Given the description of an element on the screen output the (x, y) to click on. 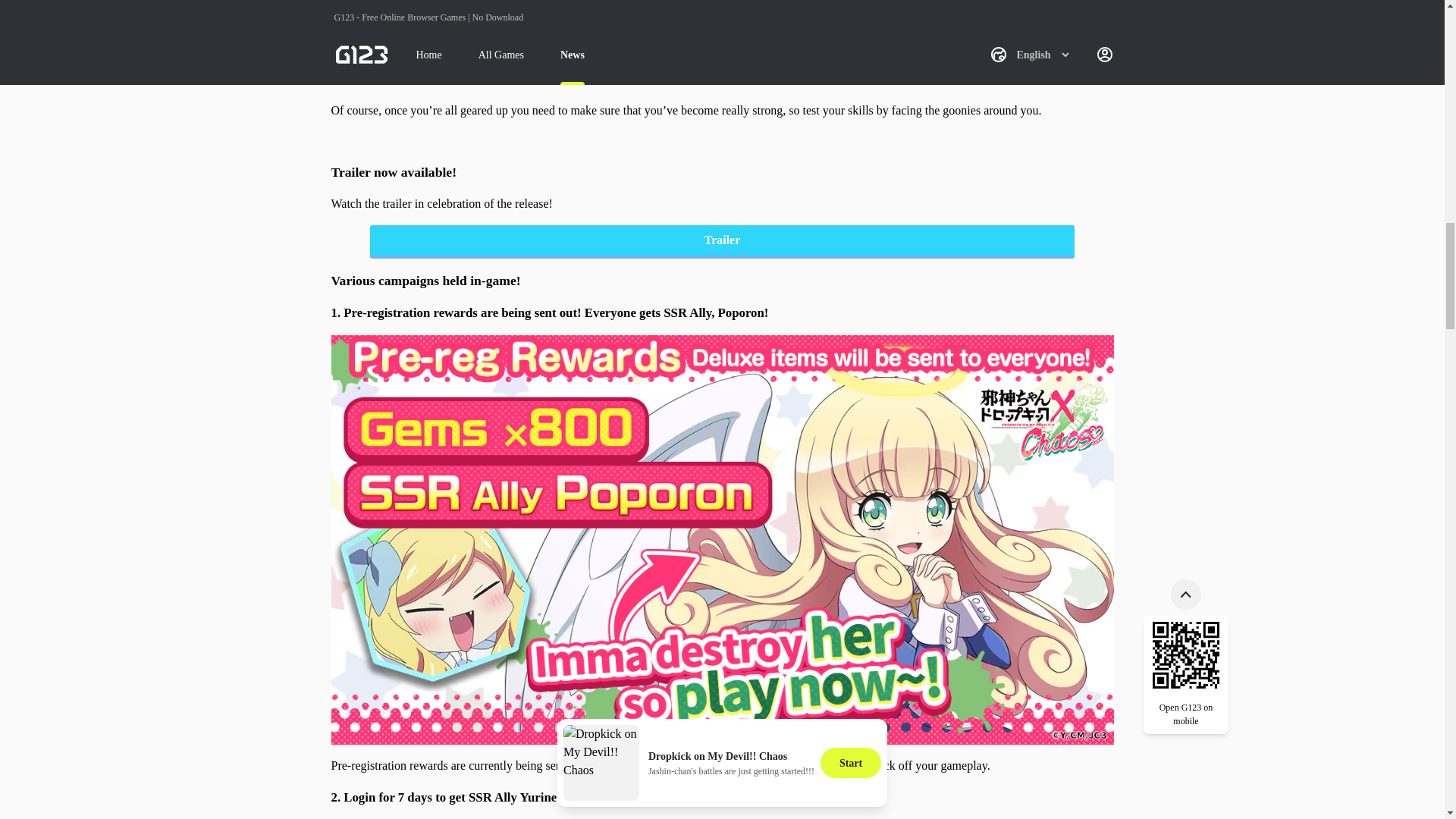
Trailer (721, 241)
